Given the description of an element on the screen output the (x, y) to click on. 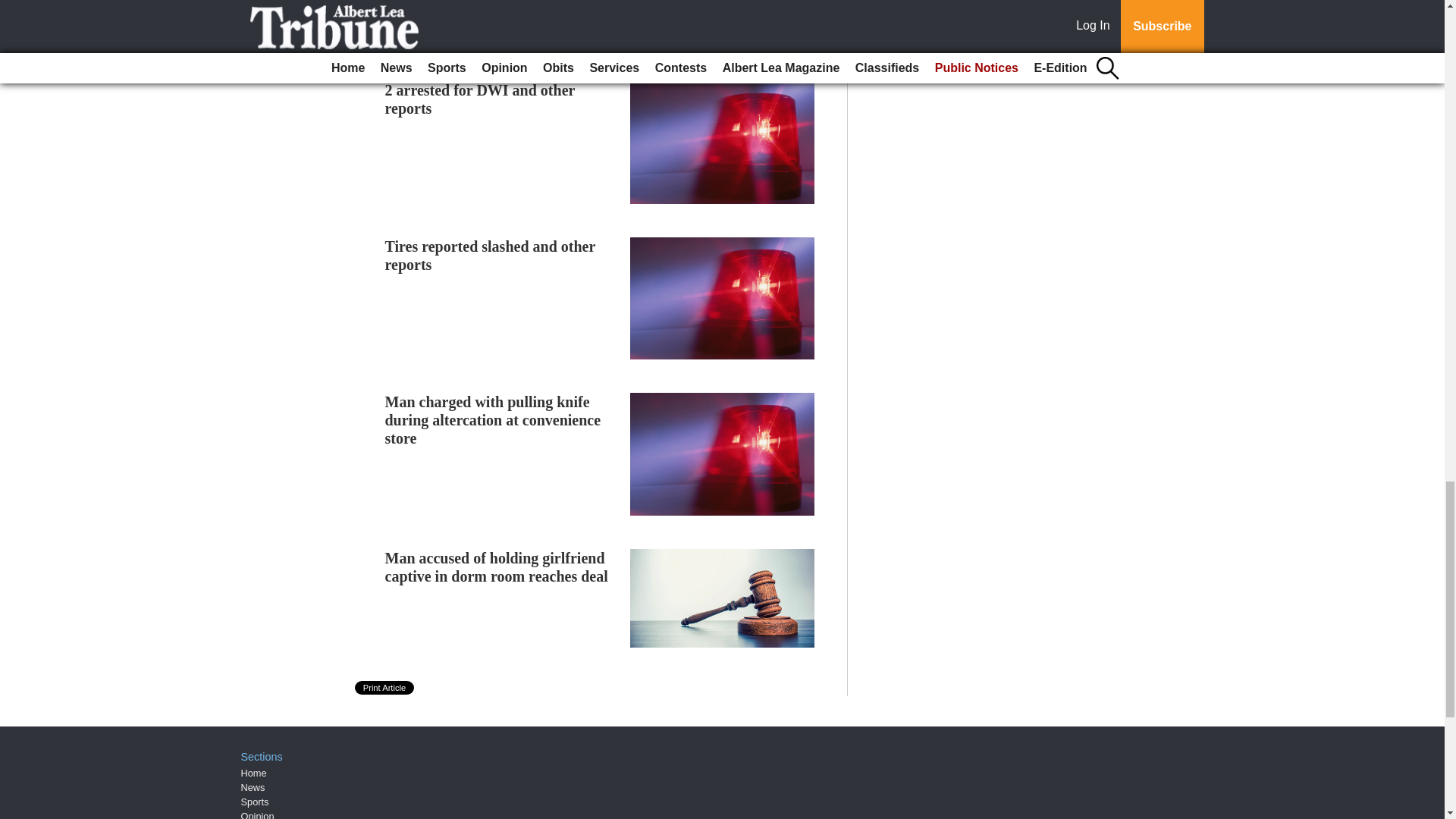
Tires reported slashed and other reports (490, 255)
2 arrested for DWI and other reports (480, 99)
